Given the description of an element on the screen output the (x, y) to click on. 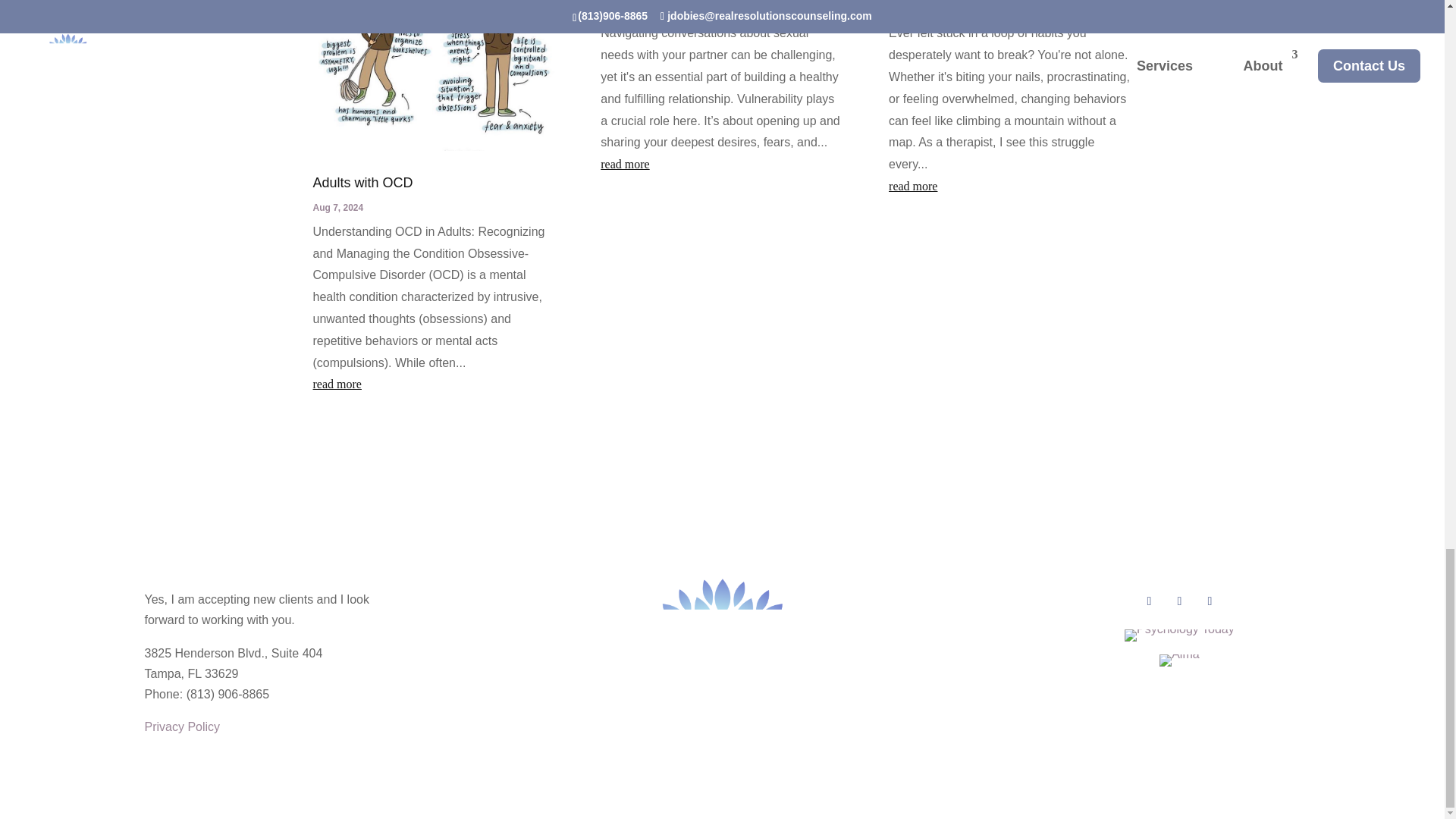
Follow on LinkedIn (1208, 600)
Follow on Instagram (1179, 600)
Follow on Facebook (1148, 600)
RealResolutionsCounseling (722, 663)
read more (1009, 187)
Adults with OCD (362, 182)
Privacy Policy (181, 726)
read more (721, 164)
alma (1178, 660)
psychologytoday1 (1179, 635)
